Given the description of an element on the screen output the (x, y) to click on. 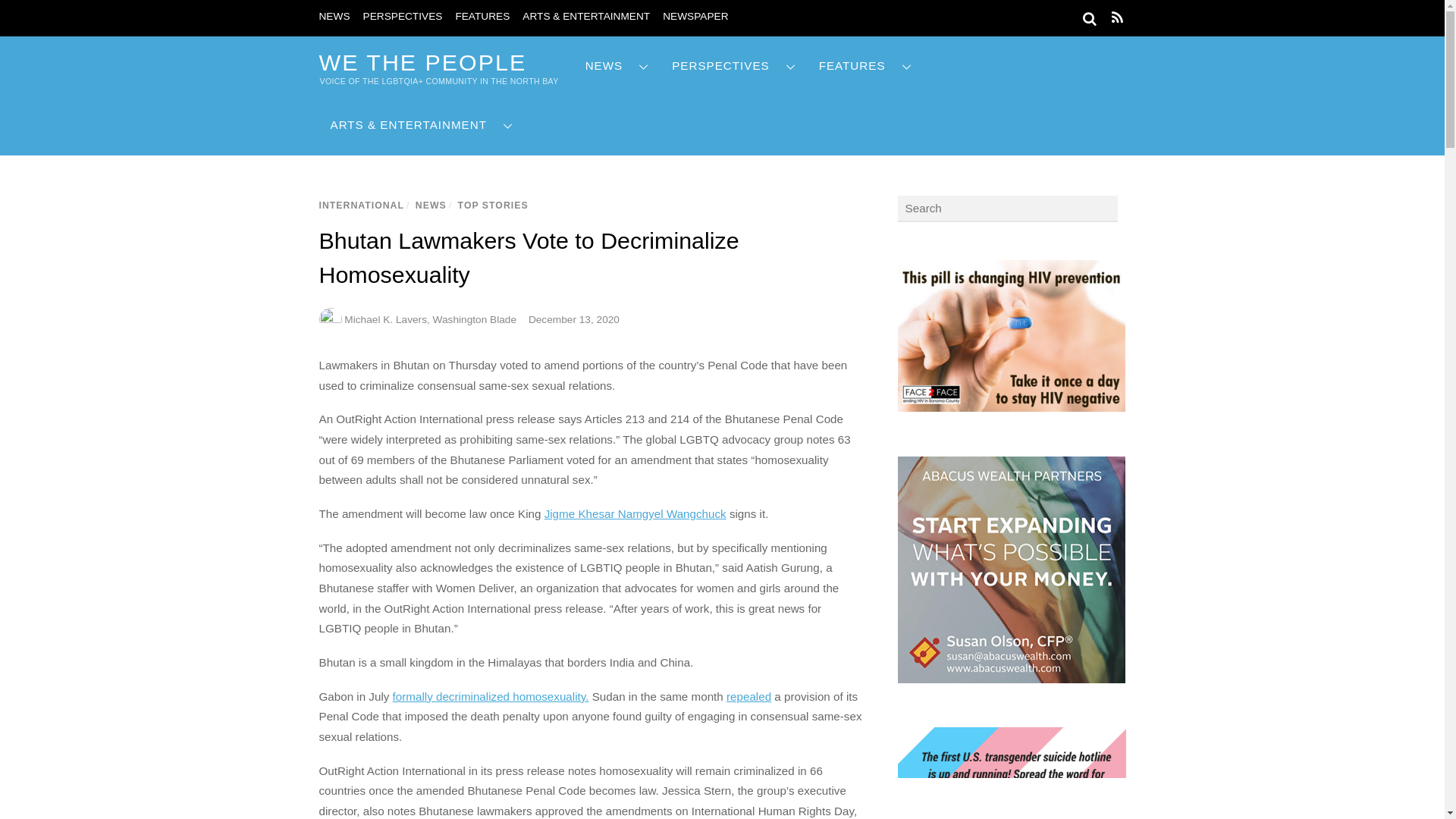
FEATURES (481, 16)
NEWS (617, 66)
PERSPECTIVES (402, 16)
NEWS (333, 16)
WE THE PEOPLE (421, 62)
NEWSPAPER (695, 16)
We The People (421, 62)
